Given the description of an element on the screen output the (x, y) to click on. 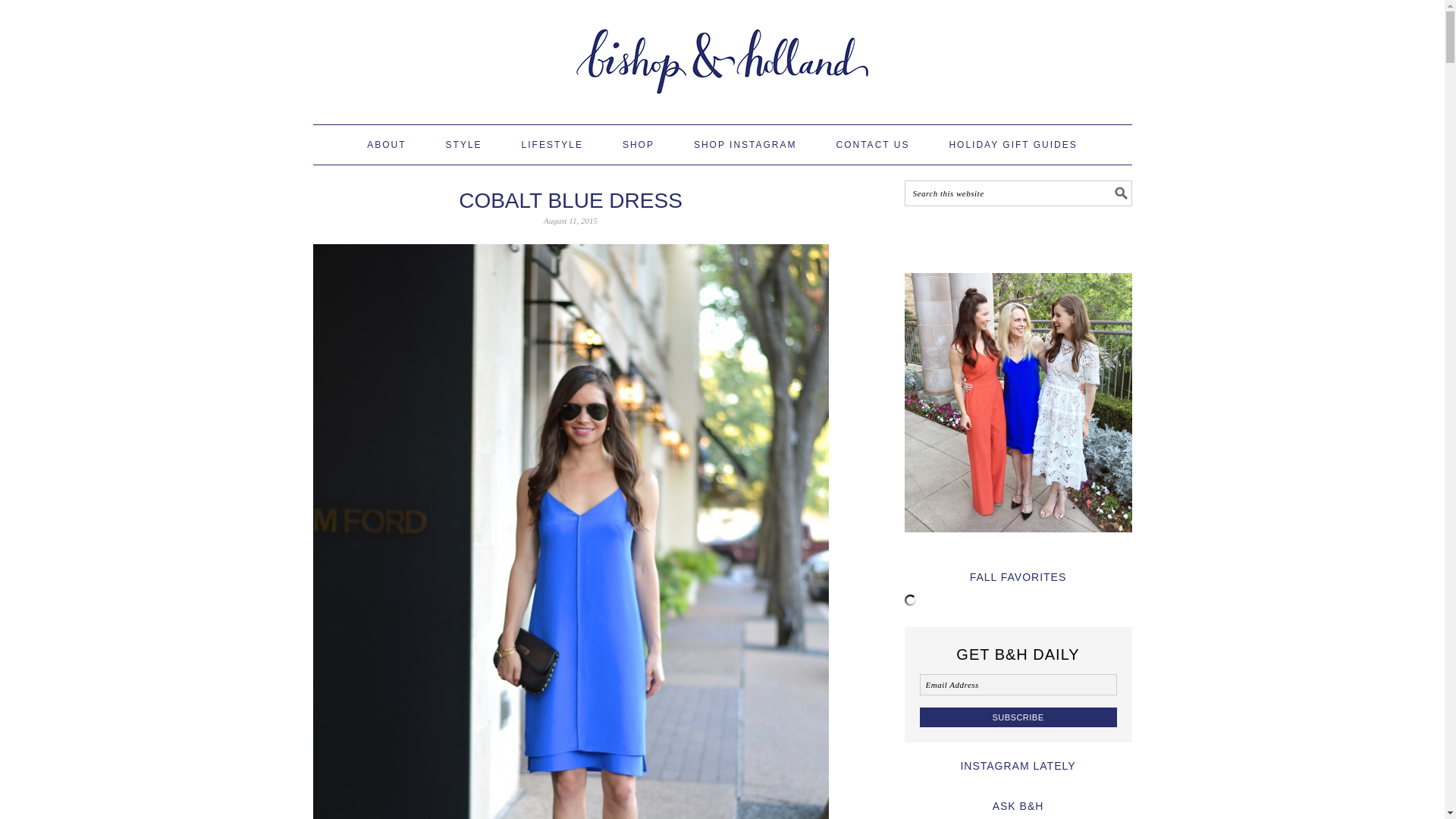
STYLE (463, 144)
ABOUT (386, 144)
SHOP INSTAGRAM (745, 144)
SHOP (638, 144)
Subscribe (1017, 717)
CONTACT US (872, 144)
COBALT BLUE DRESS (570, 200)
LIFESTYLE (552, 144)
HOLIDAY GIFT GUIDES (1013, 144)
